Given the description of an element on the screen output the (x, y) to click on. 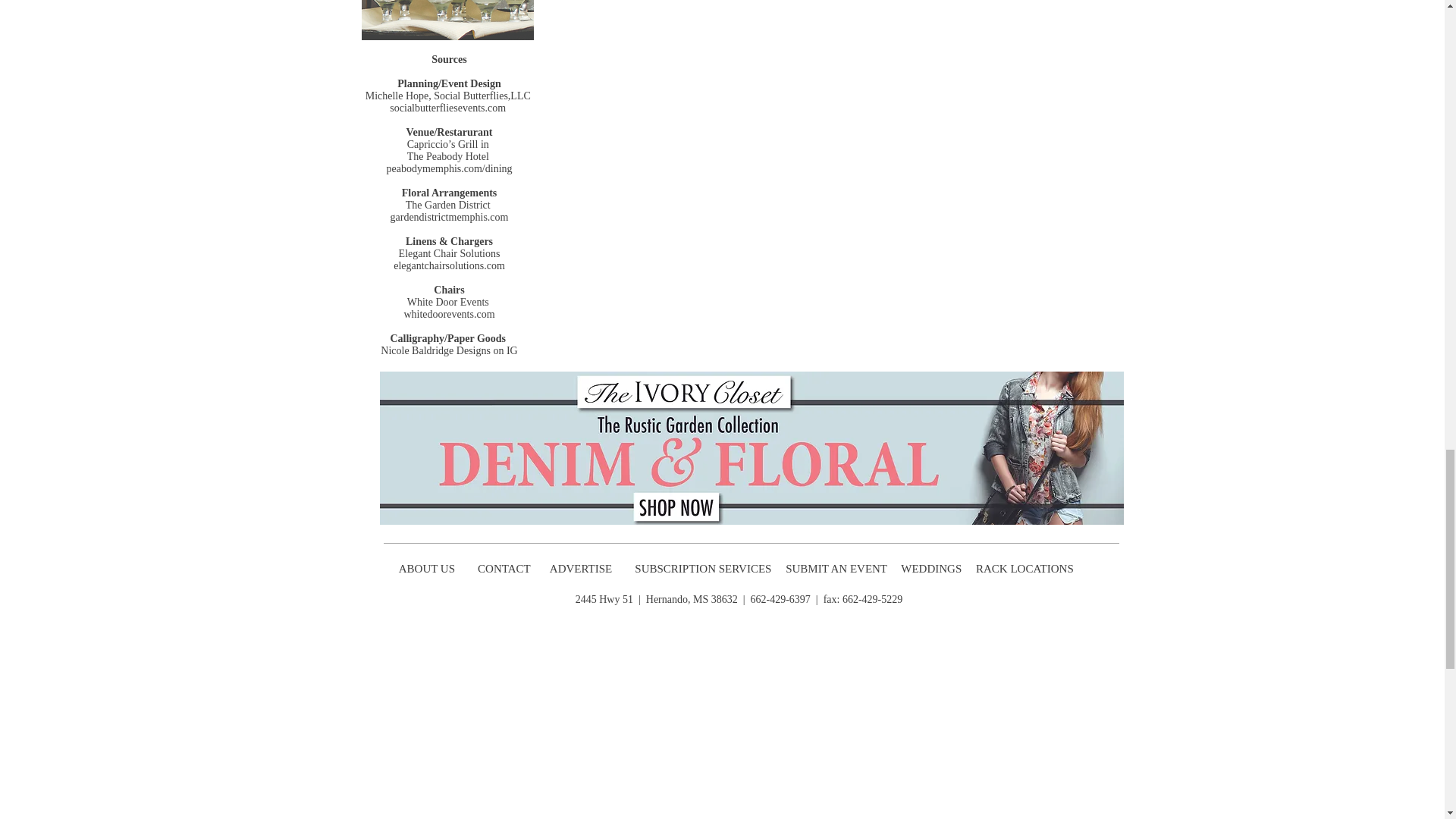
HopeFinal-2.png (446, 20)
ADVERTISE (582, 568)
SUBMIT AN EVENT (837, 568)
ABOUT US (426, 568)
CONTACT (504, 568)
RACK LOCATIONS   (1026, 568)
WEDDINGS   (935, 568)
 SUBSCRIPTION SERVICES (702, 568)
